Given the description of an element on the screen output the (x, y) to click on. 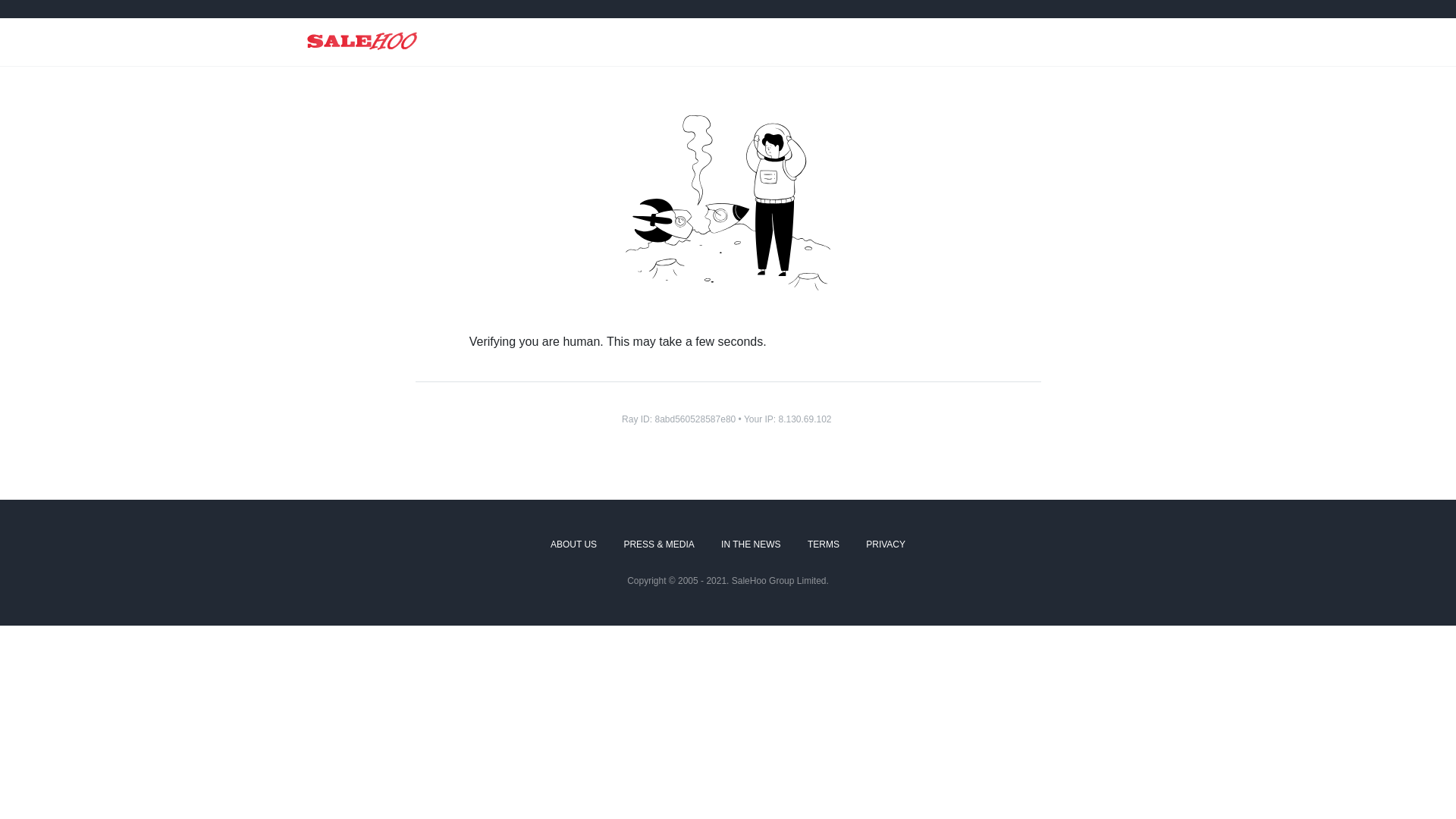
IN THE NEWS (750, 545)
PRIVACY (885, 545)
ABOUT US (573, 545)
TERMS (824, 545)
